Given the description of an element on the screen output the (x, y) to click on. 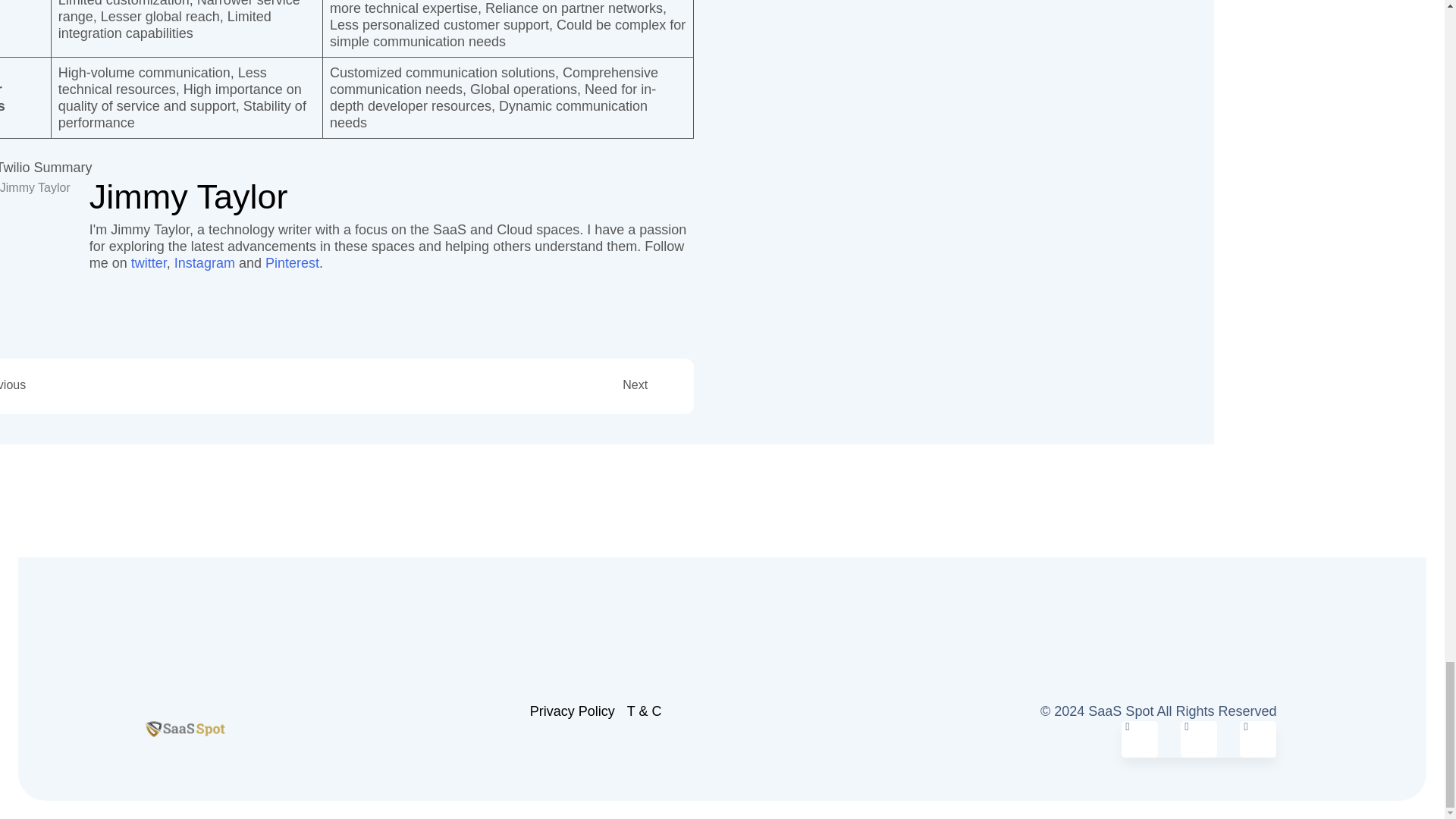
Pinterest (291, 263)
twitter (149, 263)
Previous (156, 384)
Instagram (204, 263)
Instagram (1198, 739)
Twitter (1139, 739)
Privacy Policy (571, 711)
Next (480, 384)
